Given the description of an element on the screen output the (x, y) to click on. 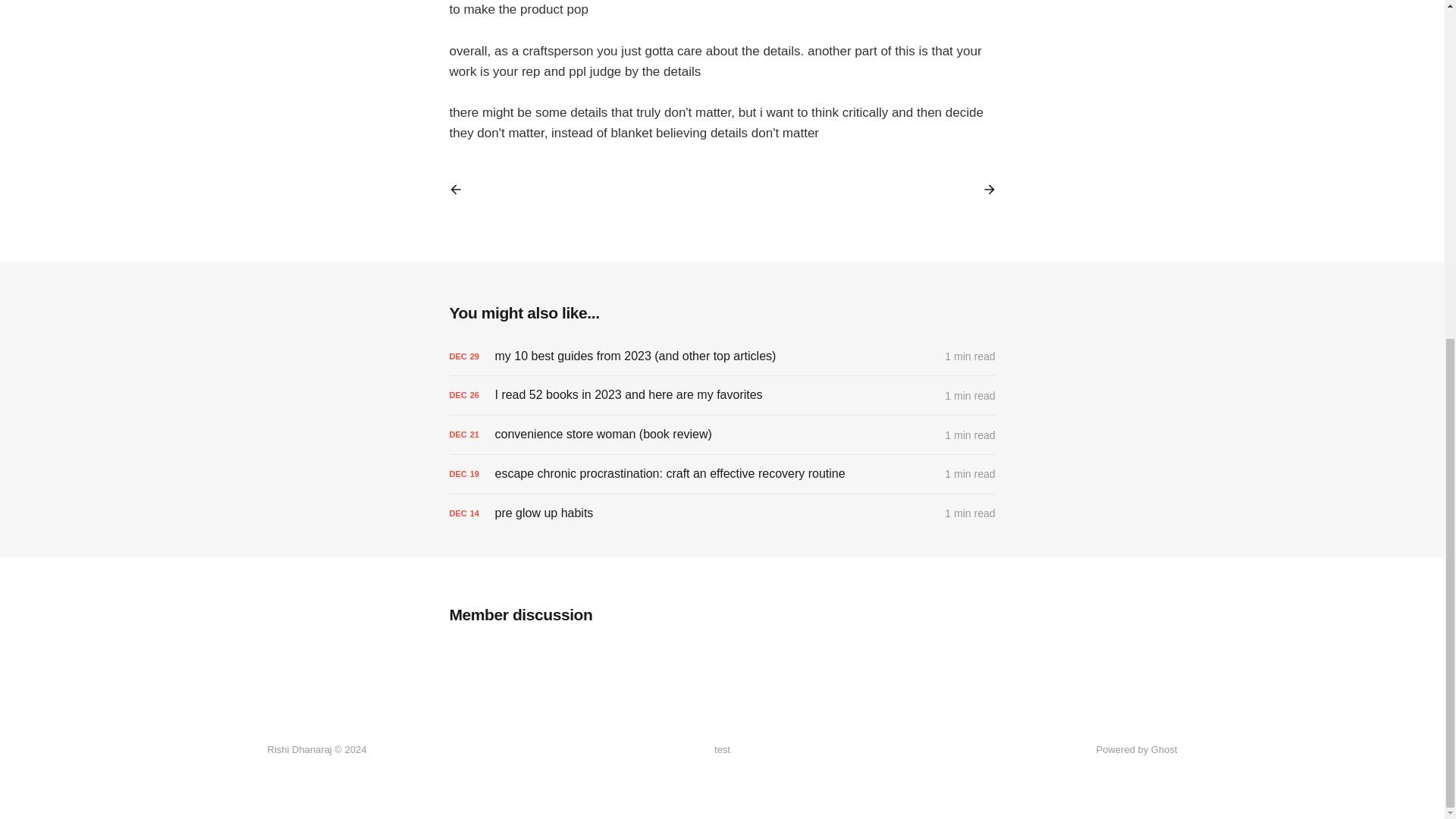
test (722, 750)
Powered by Ghost (1136, 749)
